Given the description of an element on the screen output the (x, y) to click on. 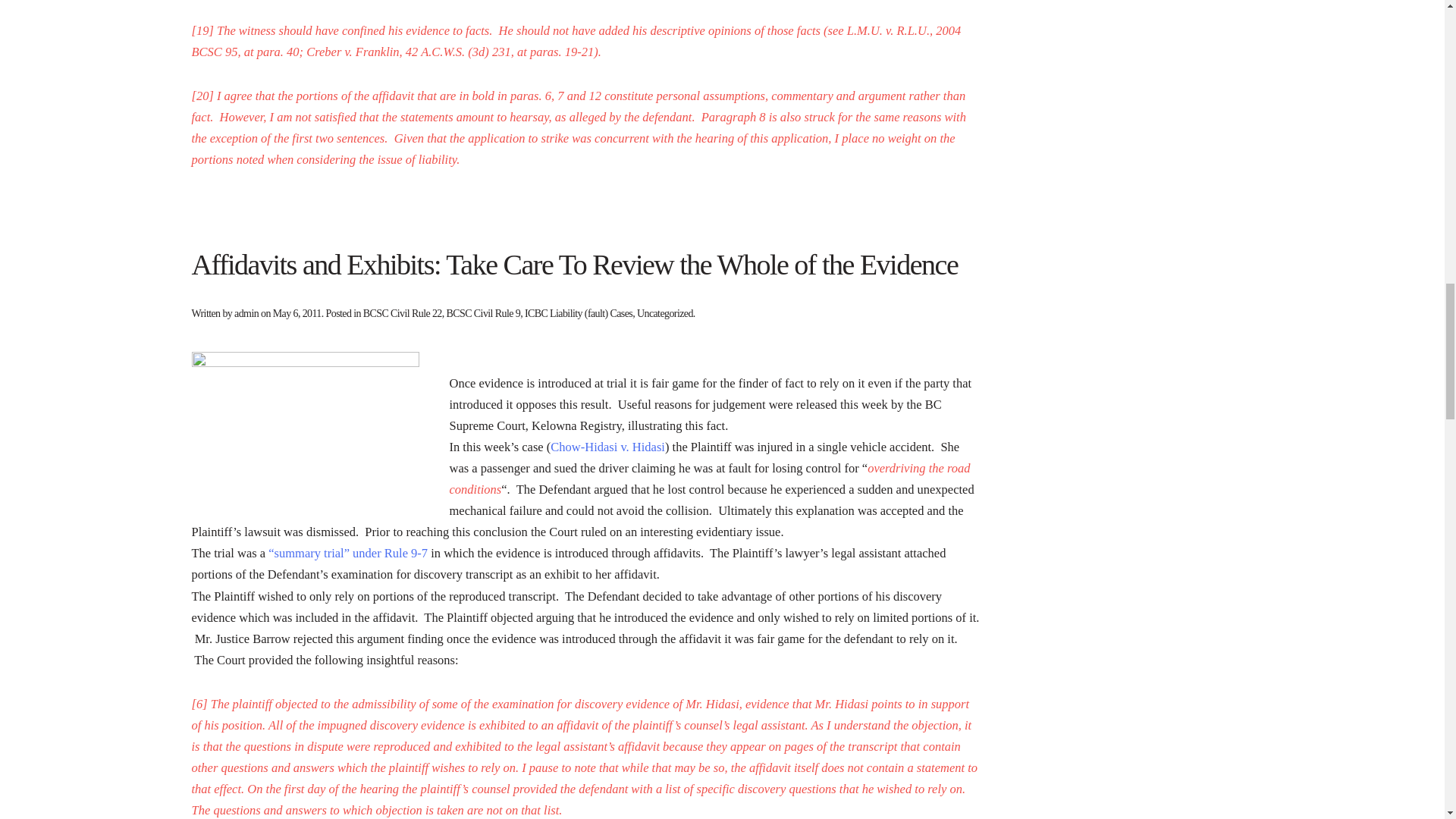
Chow-Hidasi v. Hidasi (607, 446)
Uncategorized (665, 313)
admin (246, 313)
BCSC Civil Rule 22 (402, 313)
bc-injury-law-affidavits1 (304, 427)
BCSC Civil Rule 9 (483, 313)
